Given the description of an element on the screen output the (x, y) to click on. 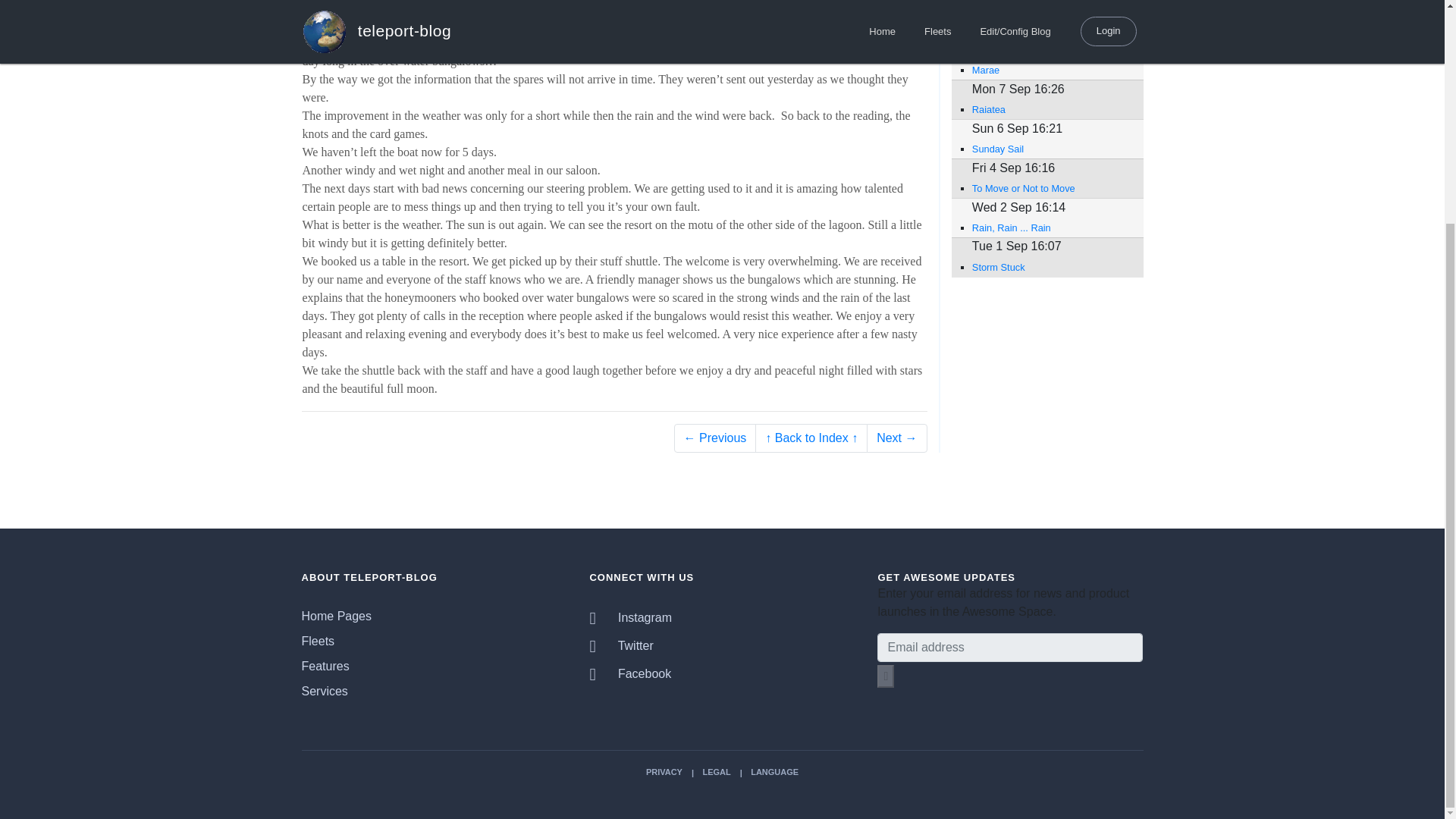
LANGUAGE (774, 771)
Repairs (1050, 30)
Services (324, 691)
To Move or Not to Move (1050, 187)
Raiatea (1050, 109)
Storm Stuck (1050, 267)
Sunday Sail (1050, 148)
Marae (1050, 69)
PRIVACY (664, 771)
Home Pages (336, 616)
Twitter (620, 645)
Rain, Rain ... Rain (1050, 227)
LEGAL (715, 771)
Instagram (630, 617)
Features (325, 666)
